Given the description of an element on the screen output the (x, y) to click on. 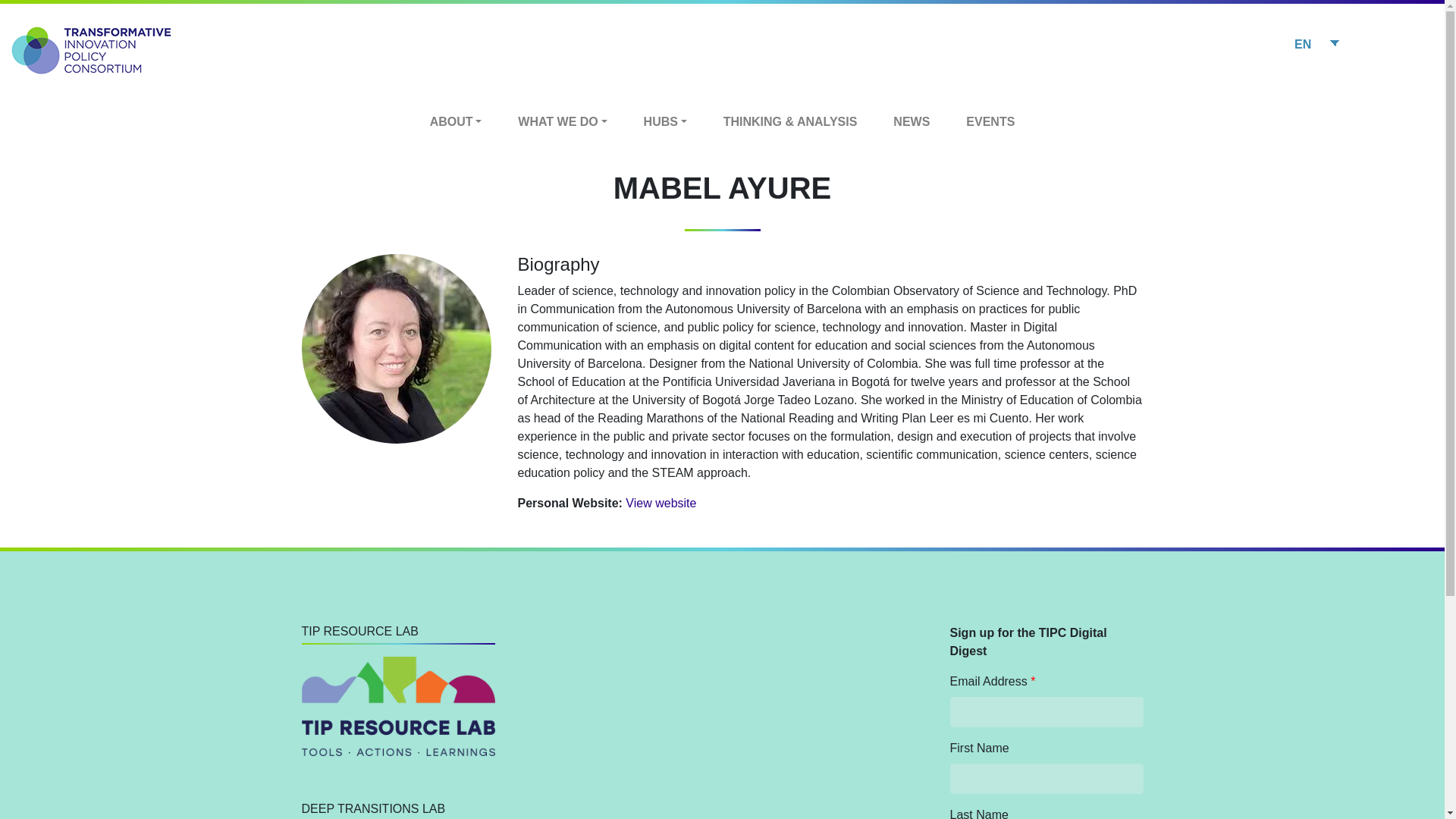
English (1314, 44)
WHAT WE DO (561, 121)
HUBS (665, 121)
What We Do (561, 121)
View website (660, 502)
EN (1314, 44)
About (456, 121)
Hubs (665, 121)
EVENTS (989, 121)
NEWS (911, 121)
ABOUT (456, 121)
